Given the description of an element on the screen output the (x, y) to click on. 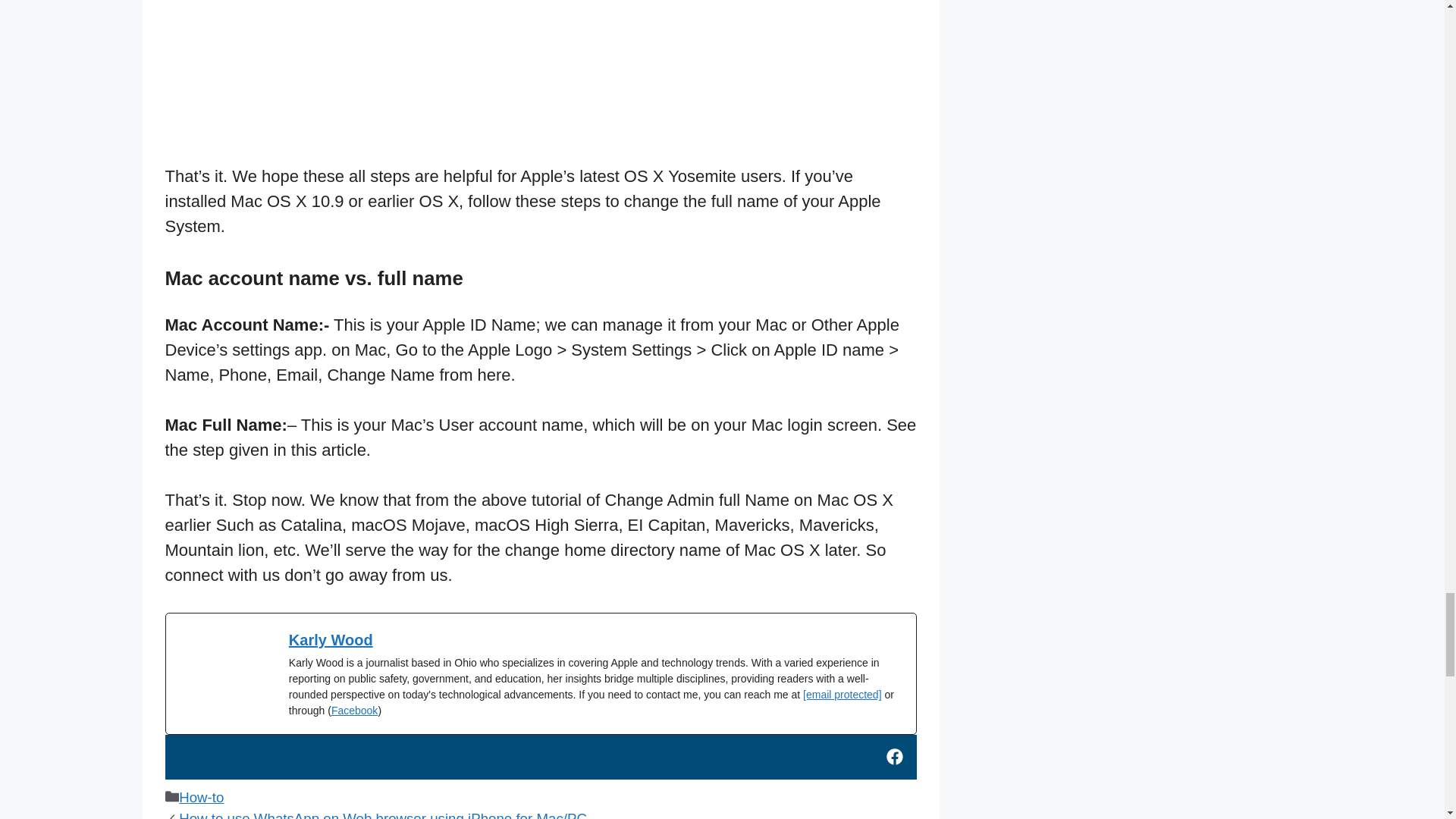
Karly Wood (330, 639)
Facebook (354, 710)
